Given the description of an element on the screen output the (x, y) to click on. 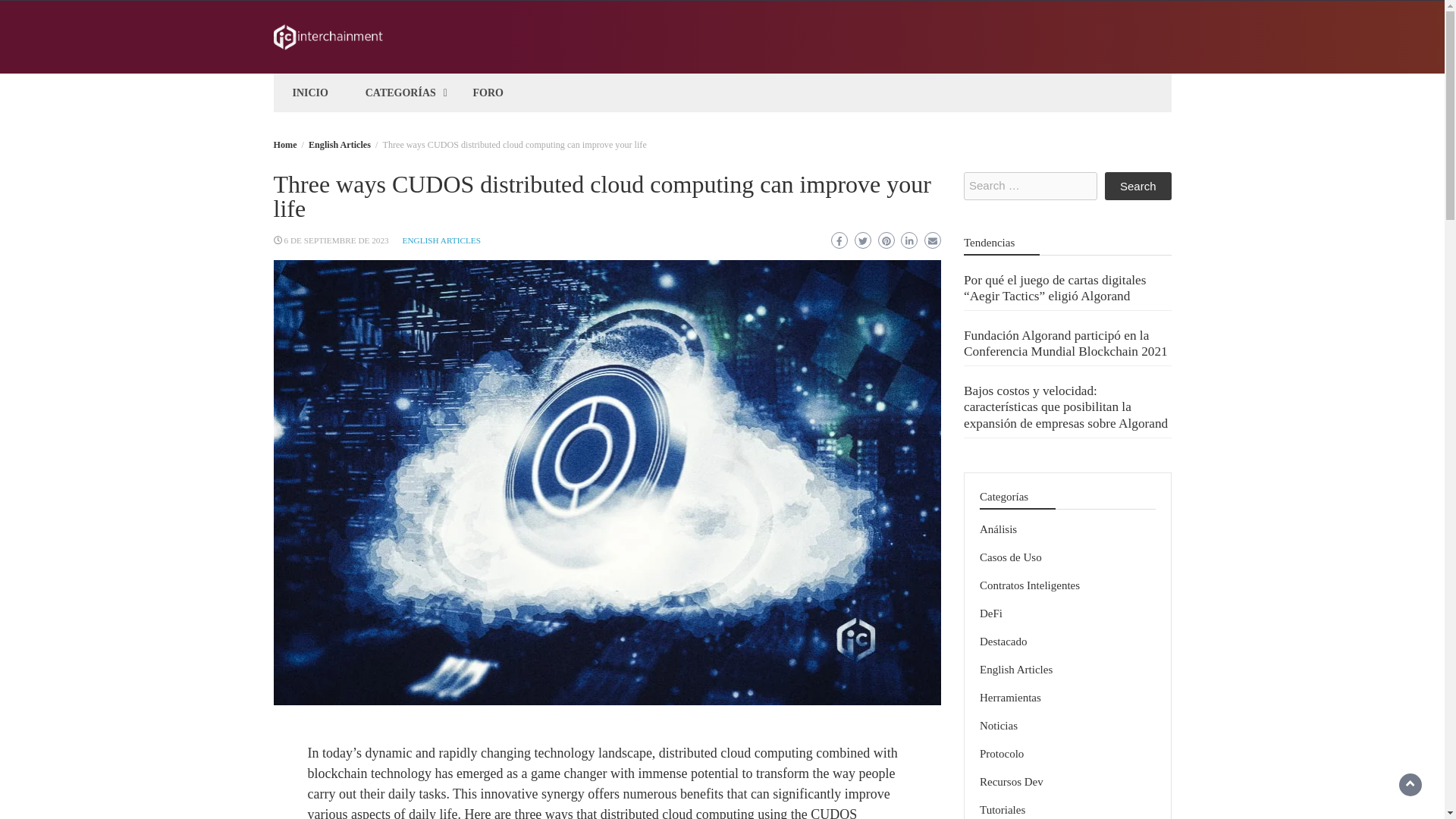
Search (1138, 185)
Search (1138, 185)
FORO (488, 92)
INICIO (310, 92)
Search for: (1030, 185)
English Articles (339, 144)
6 DE SEPTIEMBRE DE 2023 (335, 239)
Search (1138, 185)
ENGLISH ARTICLES (441, 239)
Home (285, 144)
